Given the description of an element on the screen output the (x, y) to click on. 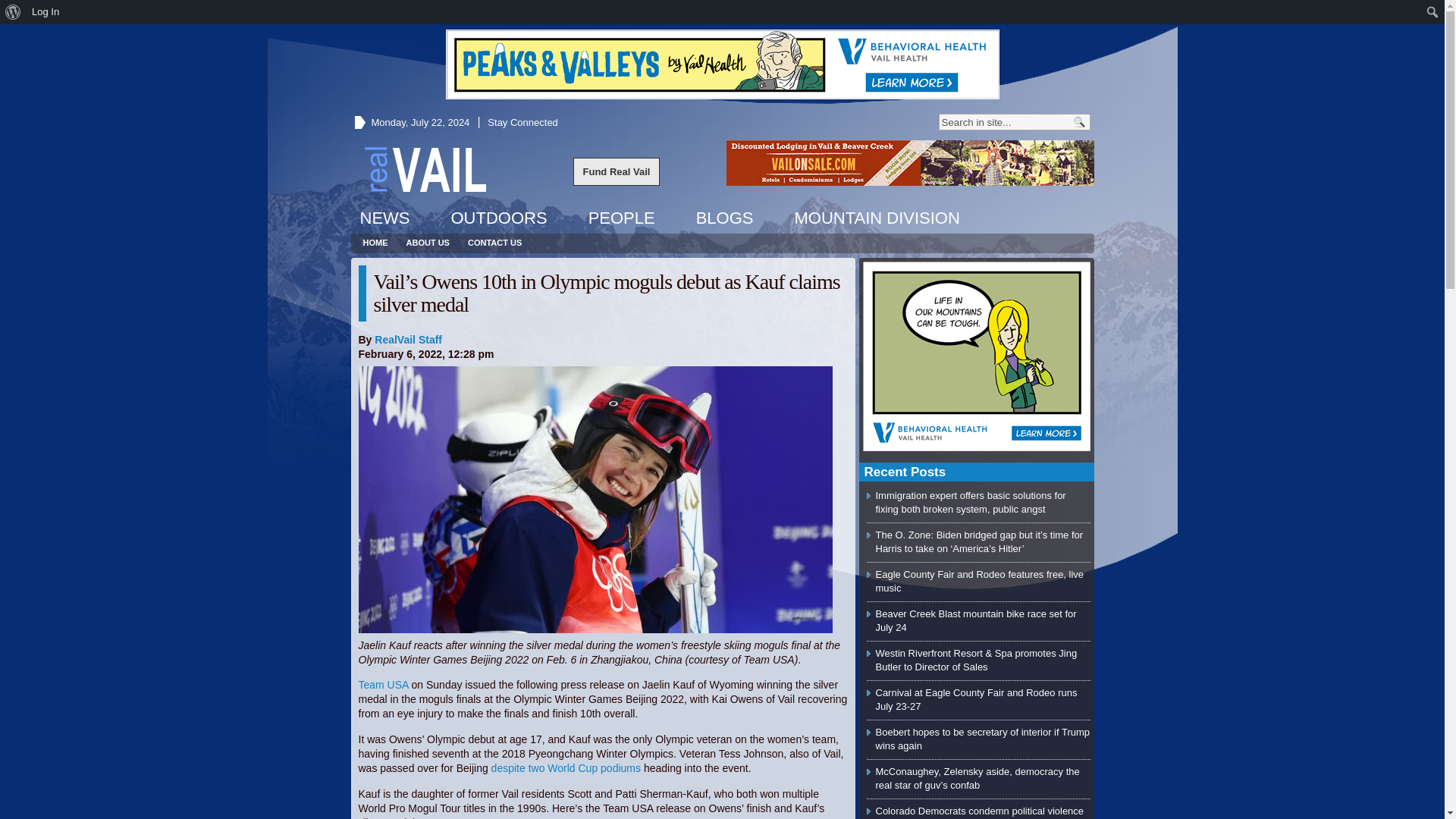
Posts by RealVail Staff (408, 339)
NEWS (384, 217)
Fund Real Vail (617, 171)
Vail Valley News, Guides, and Information (424, 168)
BLOGS (724, 217)
Team USA (382, 684)
Real Vail (424, 168)
Search in site... (1004, 121)
OUTDOORS (498, 217)
CONTACT US (494, 242)
despite two World Cup podiums (566, 767)
ABOUT US (427, 242)
MOUNTAIN DIVISION (876, 217)
HOME (374, 242)
PEOPLE (621, 217)
